Given the description of an element on the screen output the (x, y) to click on. 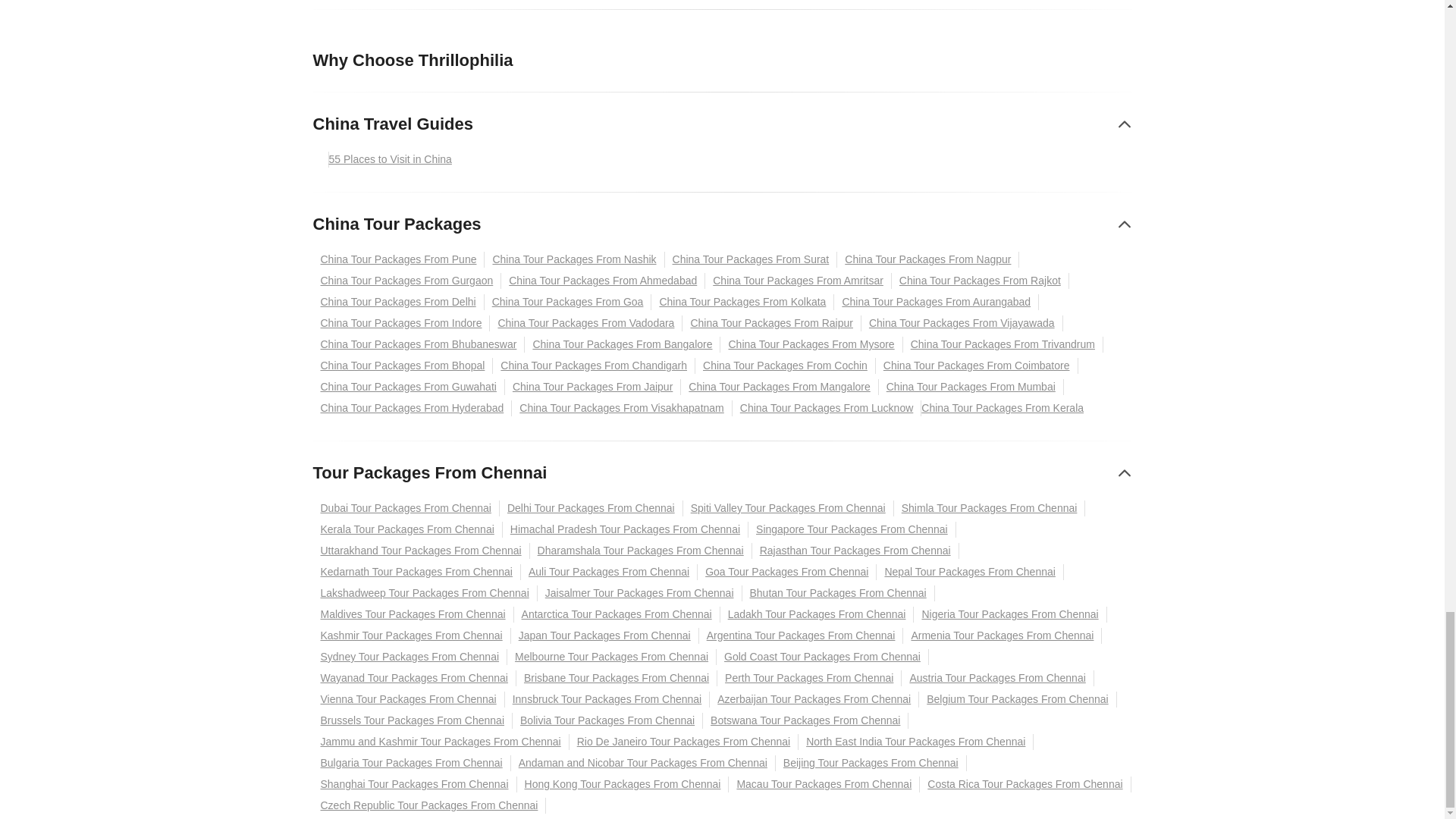
China Tour Packages From Bangalore (622, 344)
China Tour Packages From Nagpur (928, 259)
China Tour Packages From Pune (398, 259)
China Tour Packages From Amritsar (797, 280)
China Tour Packages From Kolkata (742, 302)
China Tour Packages From Raipur (771, 323)
China Tour Packages From Surat (751, 259)
China Tour Packages From Rajkot (979, 280)
China Tour Packages From Bhubaneswar (418, 344)
China Tour Packages From Delhi (398, 302)
